Given the description of an element on the screen output the (x, y) to click on. 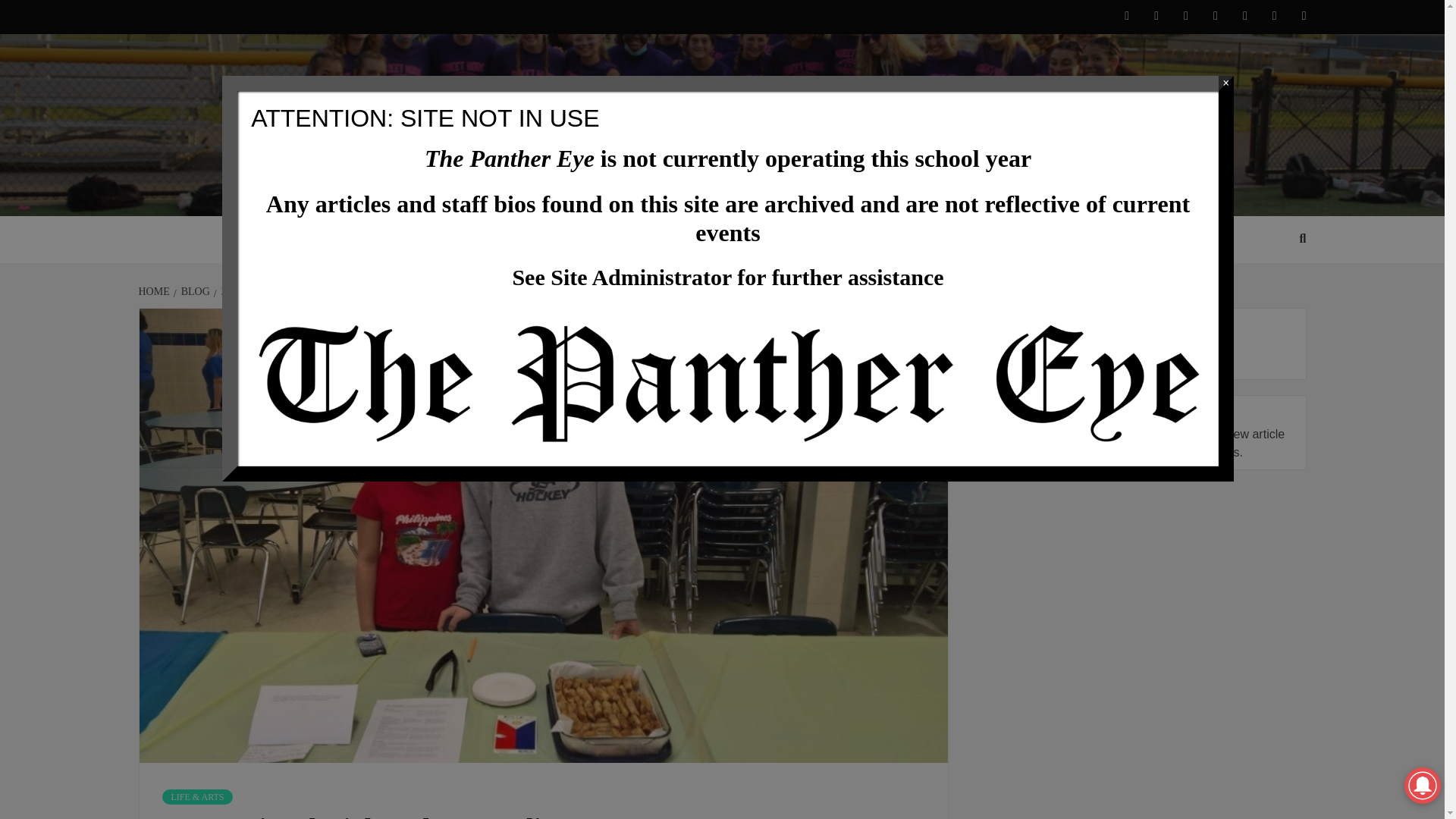
SPORTS (616, 239)
BLOG (193, 291)
INTERNATIONAL NIGHT: ALEX ARCADI (416, 291)
OPINIONS (534, 239)
MEET THE TEAM (948, 239)
NEWS (457, 239)
THE PANTHER EYE (499, 197)
8 (305, 291)
HOME (155, 291)
ADVICE (702, 239)
MARCH (271, 291)
2018 (230, 291)
